Given the description of an element on the screen output the (x, y) to click on. 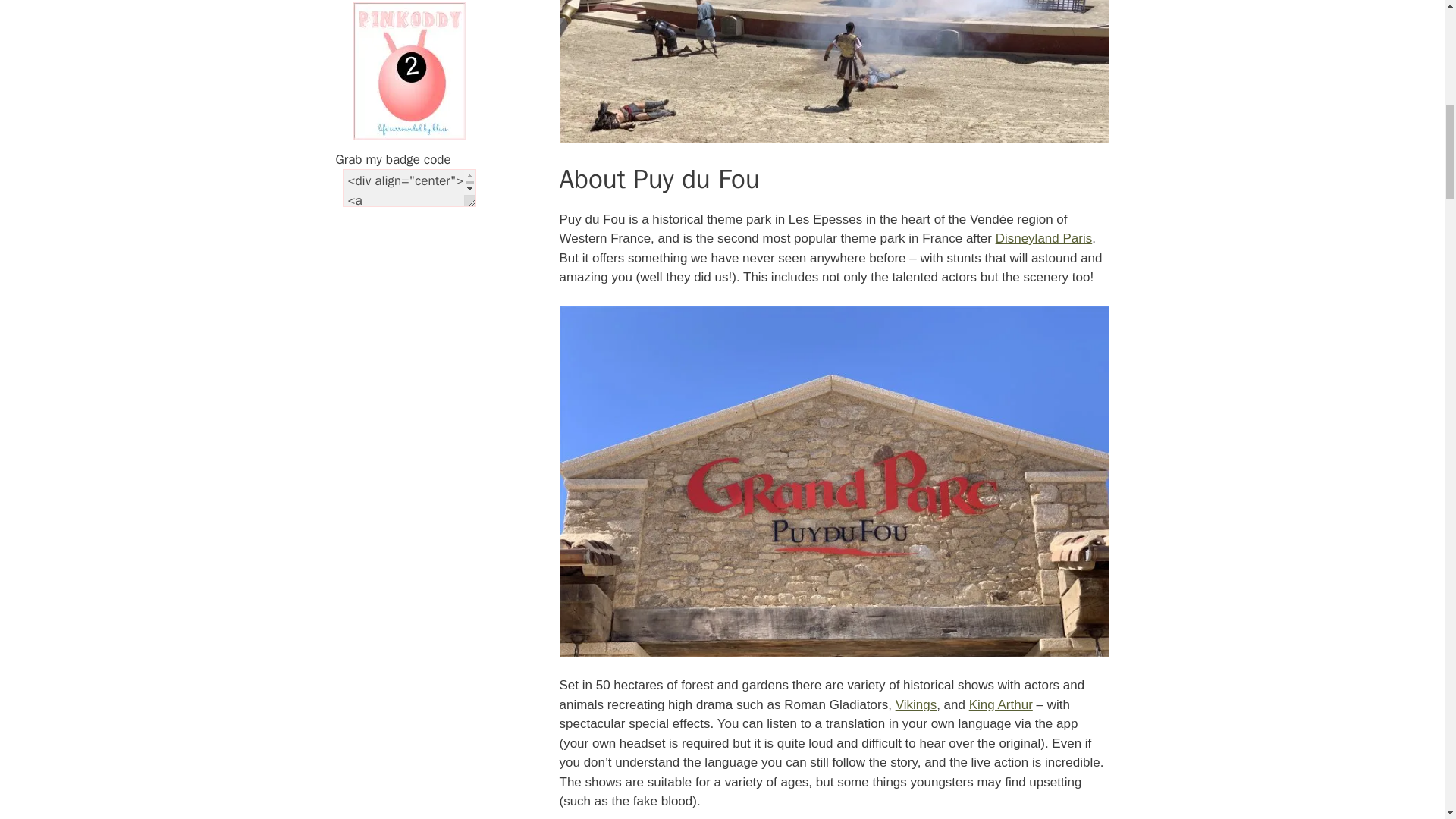
Disneyland Paris (1044, 237)
Vikings (916, 704)
King Arthur (1000, 704)
